Given the description of an element on the screen output the (x, y) to click on. 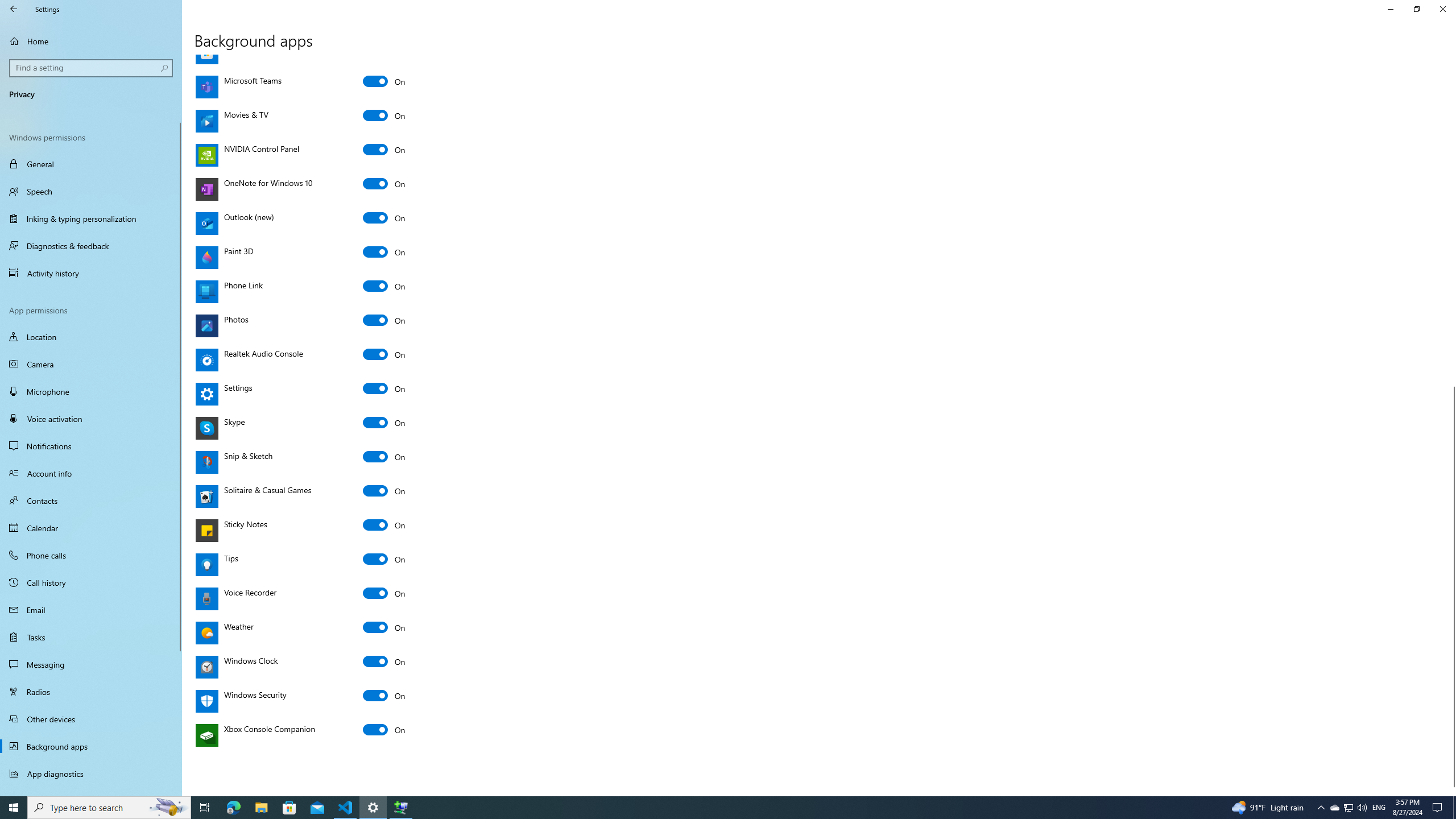
Movies & TV (384, 115)
Sticky Notes (384, 524)
Running applications (706, 807)
Other devices (91, 718)
NVIDIA Control Panel (384, 149)
Background apps (91, 746)
Radios (91, 691)
Skype (384, 422)
Email (91, 609)
Call history (91, 582)
Microsoft Teams (384, 81)
Realtek Audio Console (384, 354)
Settings (384, 388)
Show desktop (1454, 807)
Microsoft 365 (Office) (384, 13)
